Given the description of an element on the screen output the (x, y) to click on. 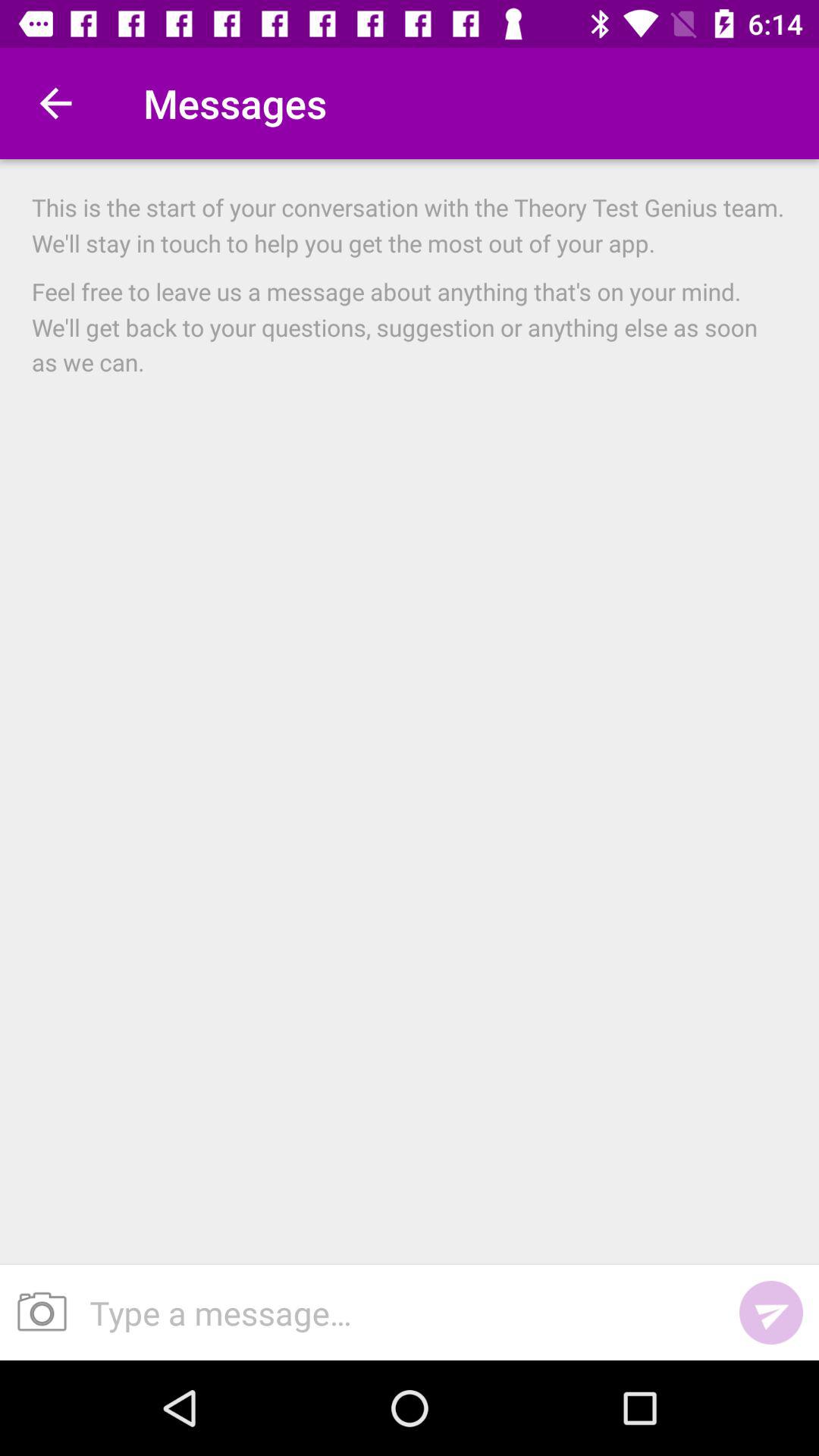
turn off the feel free to item (409, 326)
